Given the description of an element on the screen output the (x, y) to click on. 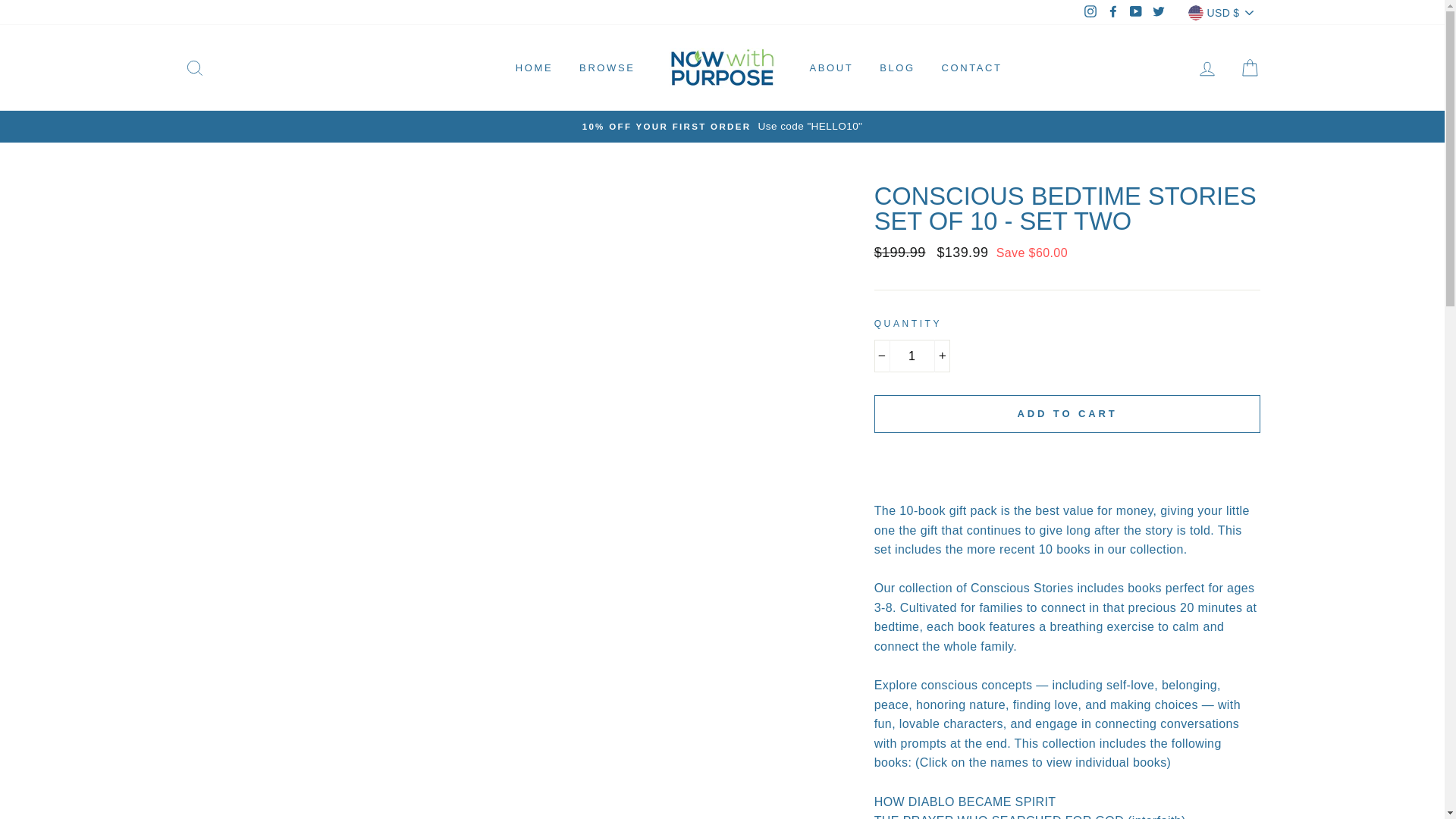
Facebook (1112, 12)
Now With Purpose on YouTube (1135, 12)
1 (912, 356)
Now With Purpose on Facebook (1112, 12)
Now With Purpose on Twitter (1158, 12)
YouTube (1135, 12)
Instagram (1090, 12)
Twitter (1158, 12)
Now With Purpose on Instagram (1090, 12)
